Given the description of an element on the screen output the (x, y) to click on. 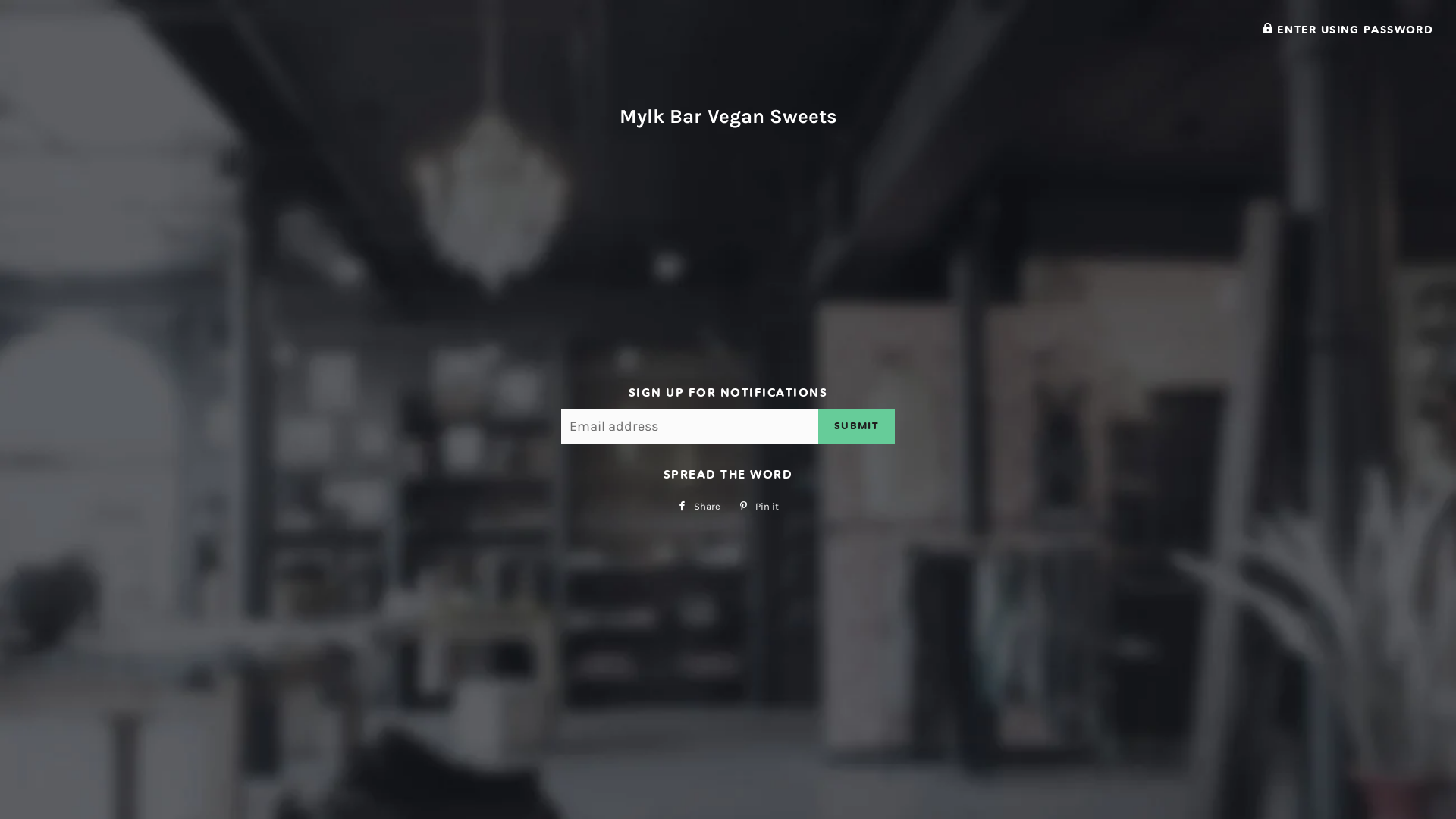
LOCK ICON ENTER USING PASSWORD Element type: text (1347, 29)
Pin it
Pin on Pinterest Element type: text (758, 506)
Share
Share on Facebook Element type: text (698, 506)
Submit Element type: text (856, 426)
